Given the description of an element on the screen output the (x, y) to click on. 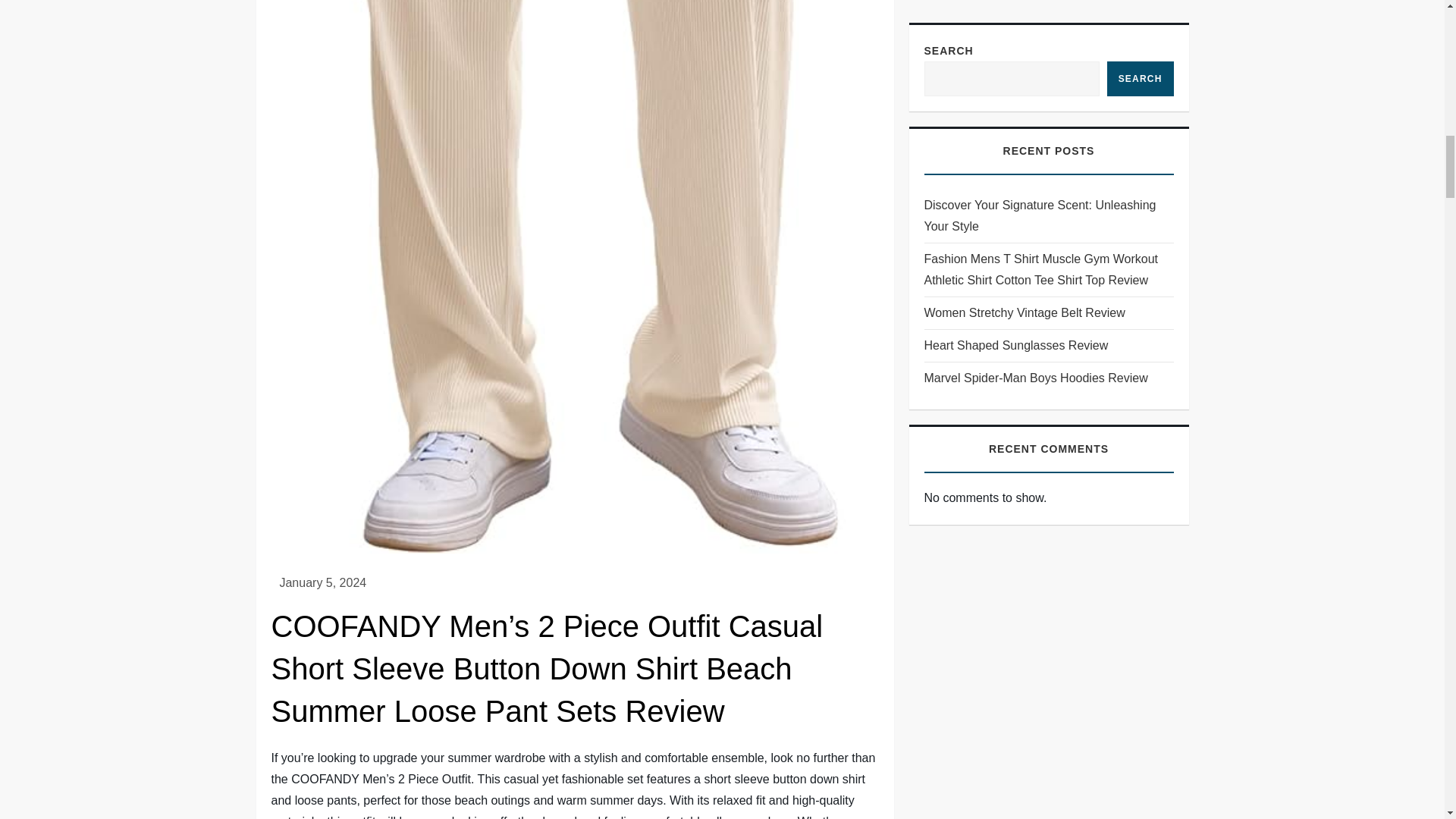
January 5, 2024 (322, 582)
